Given the description of an element on the screen output the (x, y) to click on. 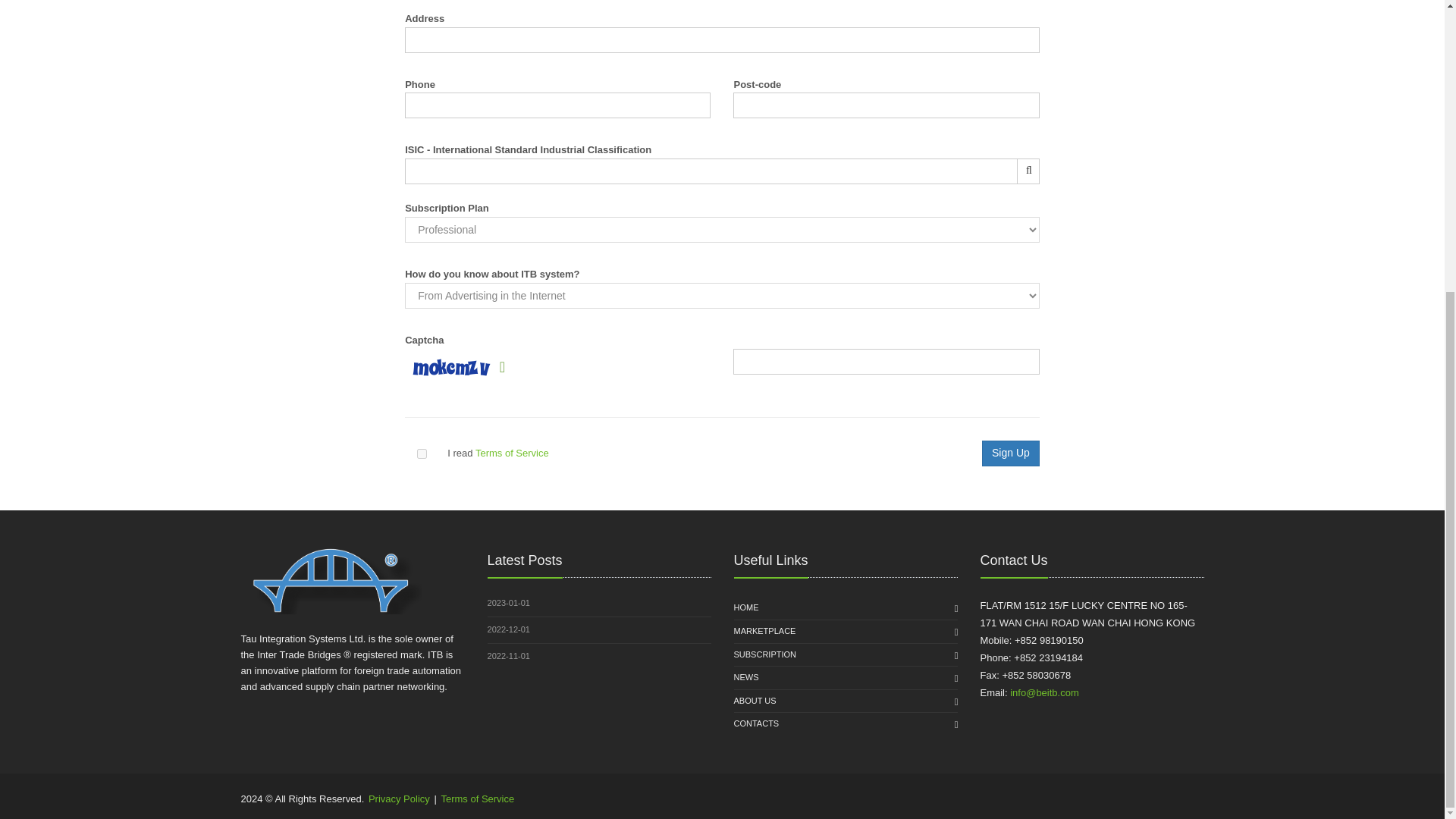
1 (421, 453)
HOME (745, 608)
Sign Up (1010, 453)
Terms of Service (512, 452)
